Given the description of an element on the screen output the (x, y) to click on. 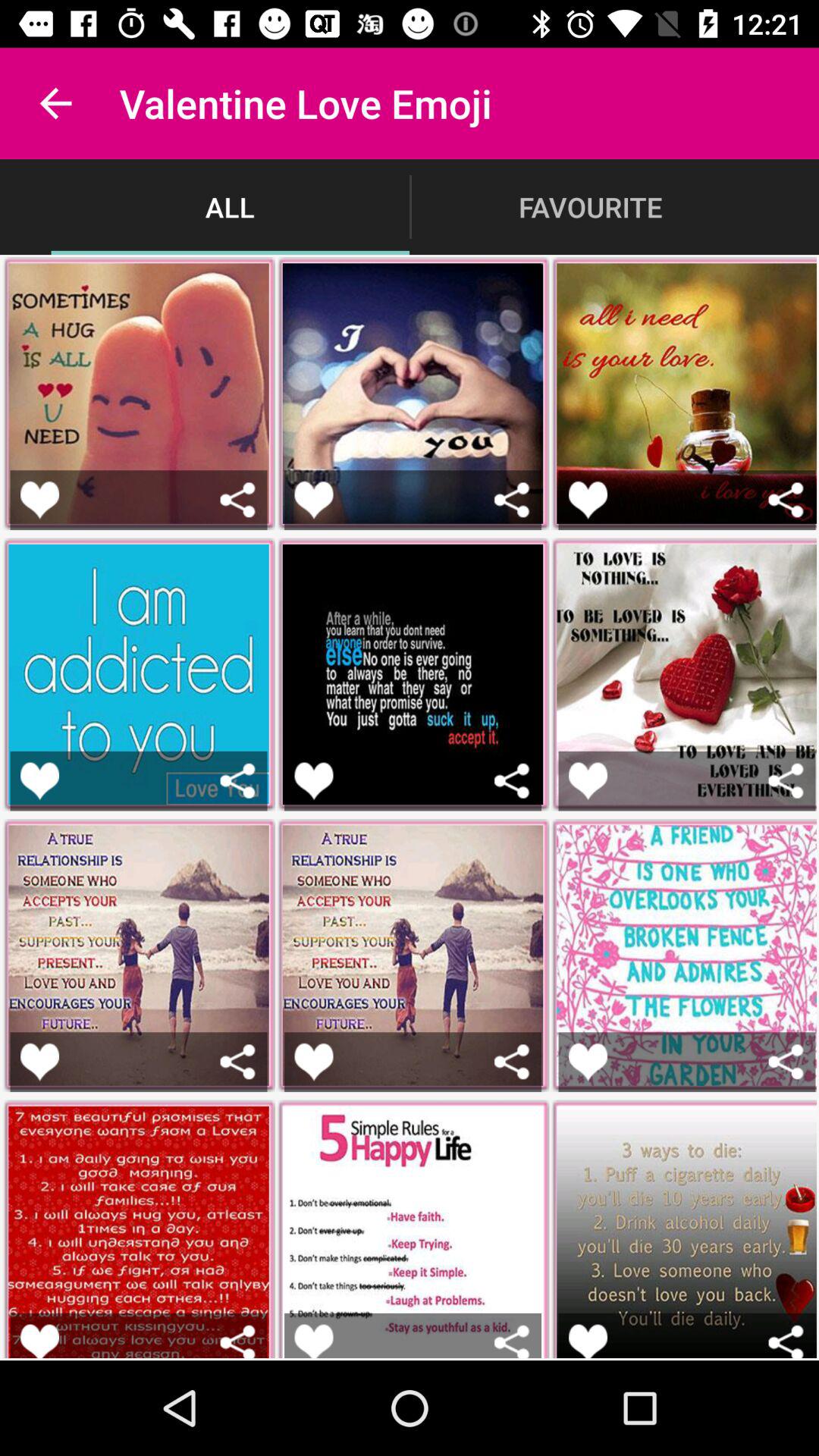
like this image (587, 1340)
